Given the description of an element on the screen output the (x, y) to click on. 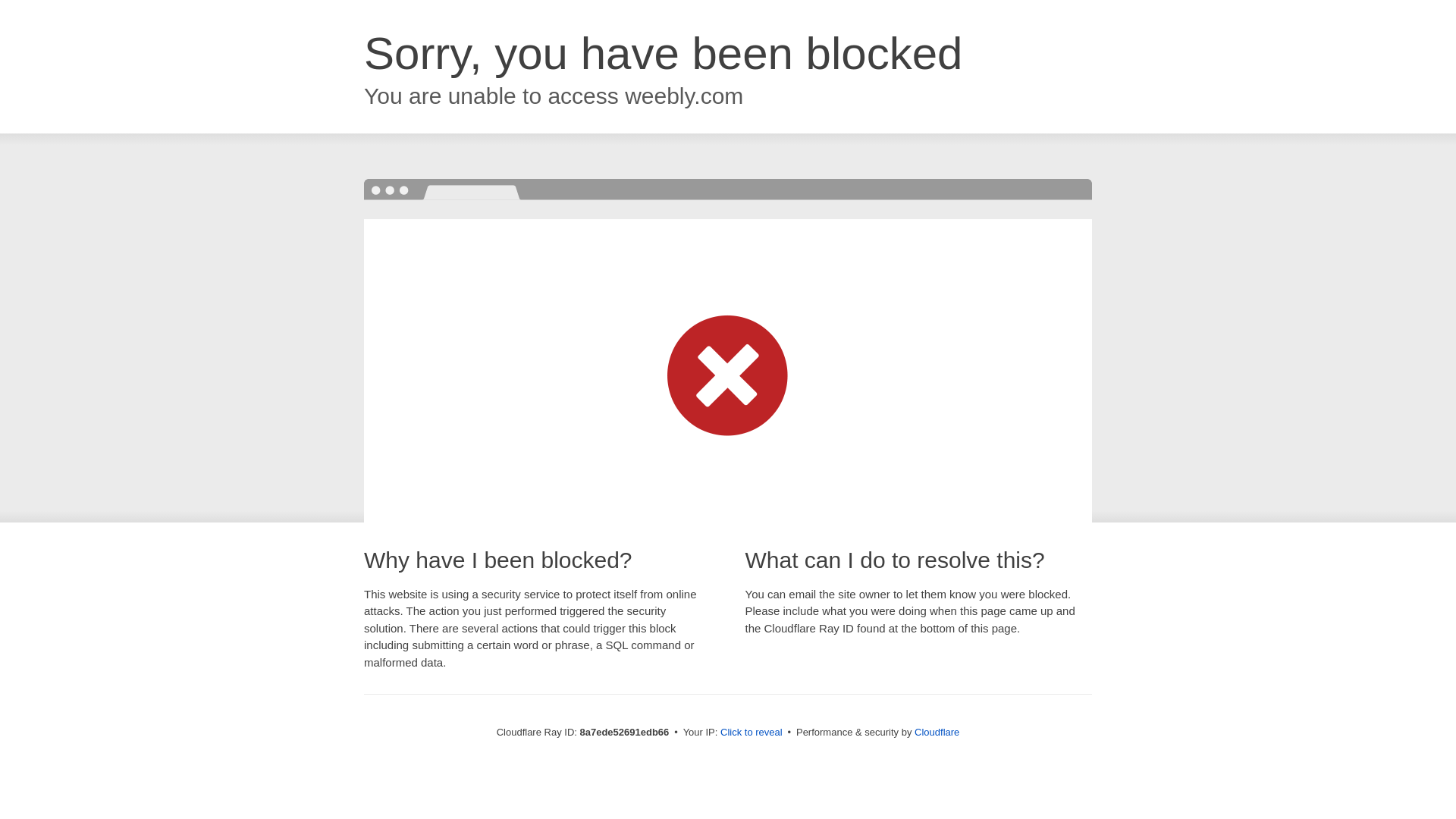
Cloudflare (936, 731)
Click to reveal (751, 732)
